Given the description of an element on the screen output the (x, y) to click on. 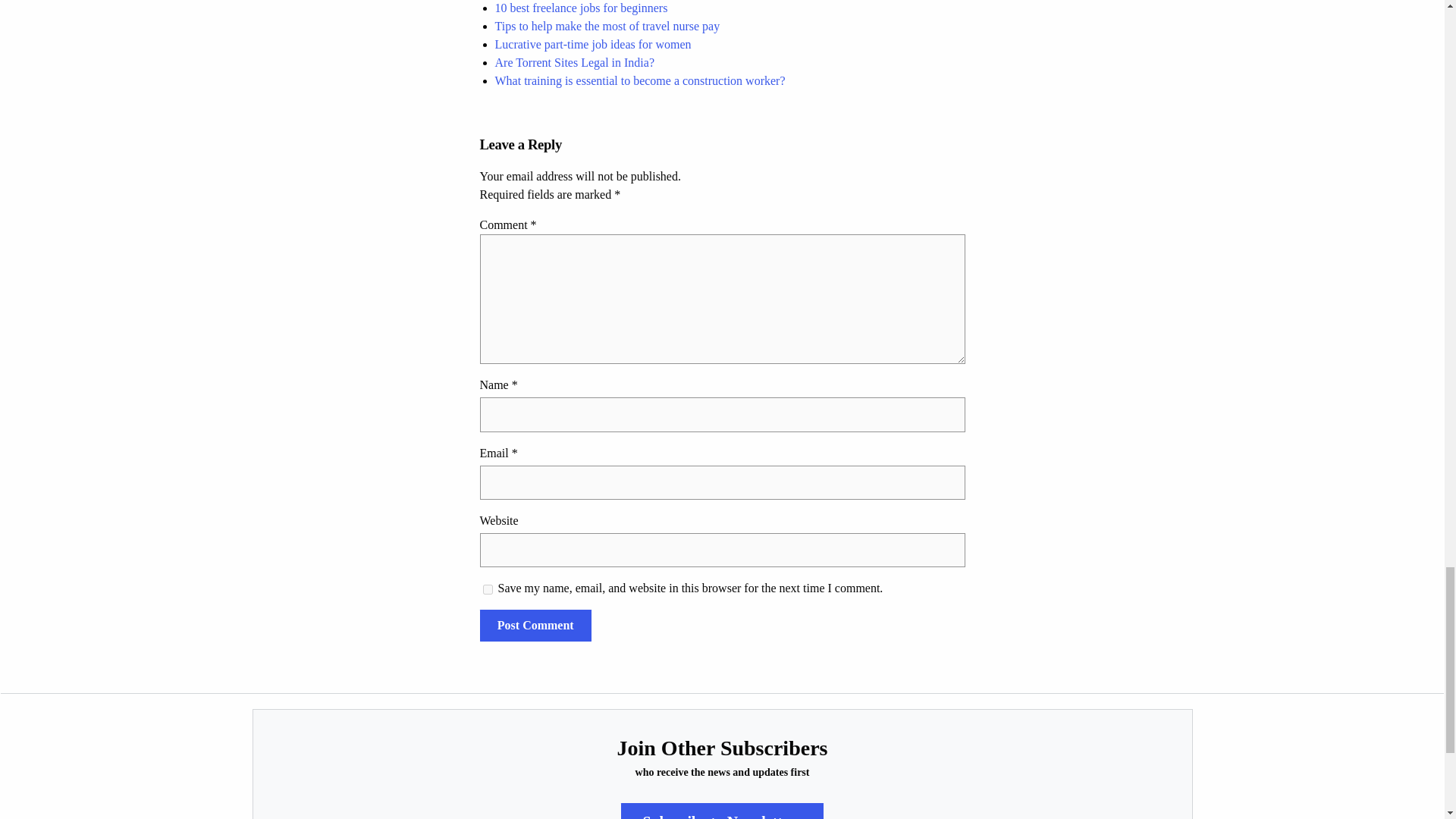
Are Torrent Sites Legal in India? (574, 62)
10 best freelance jobs for beginners (580, 7)
Post Comment (535, 624)
What training is essential to become a construction worker? (639, 80)
Tips to help make the most of travel nurse pay (607, 25)
Lucrative part-time job ideas for women (592, 43)
Post Comment (535, 624)
Subscribe to Newsletters (722, 811)
